Given the description of an element on the screen output the (x, y) to click on. 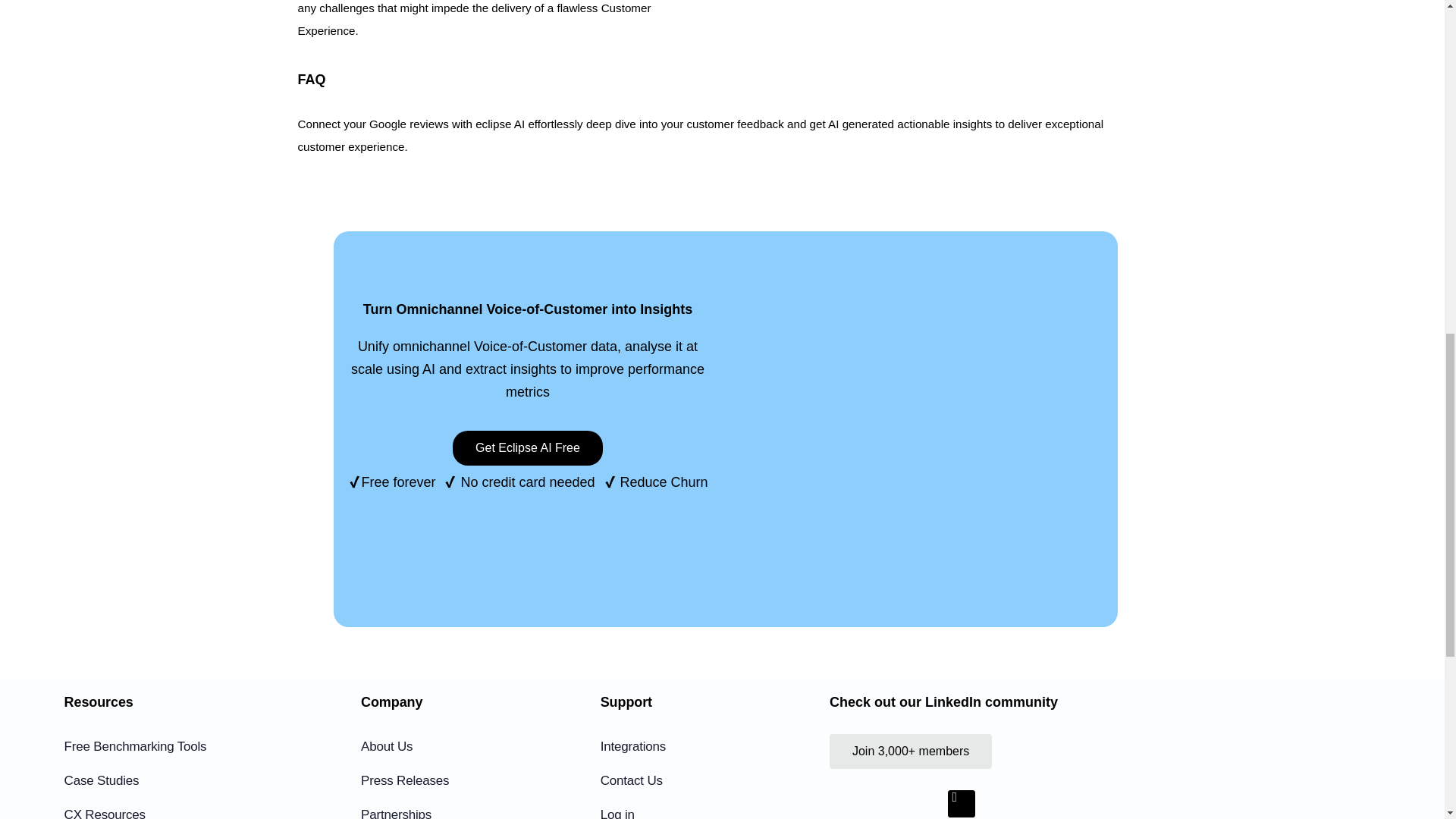
Free Benchmarking Tools (191, 746)
About Us (476, 746)
CX Resources (191, 811)
Press Releases (476, 780)
Case Studies (191, 780)
Get Eclipse AI Free (527, 448)
